Given the description of an element on the screen output the (x, y) to click on. 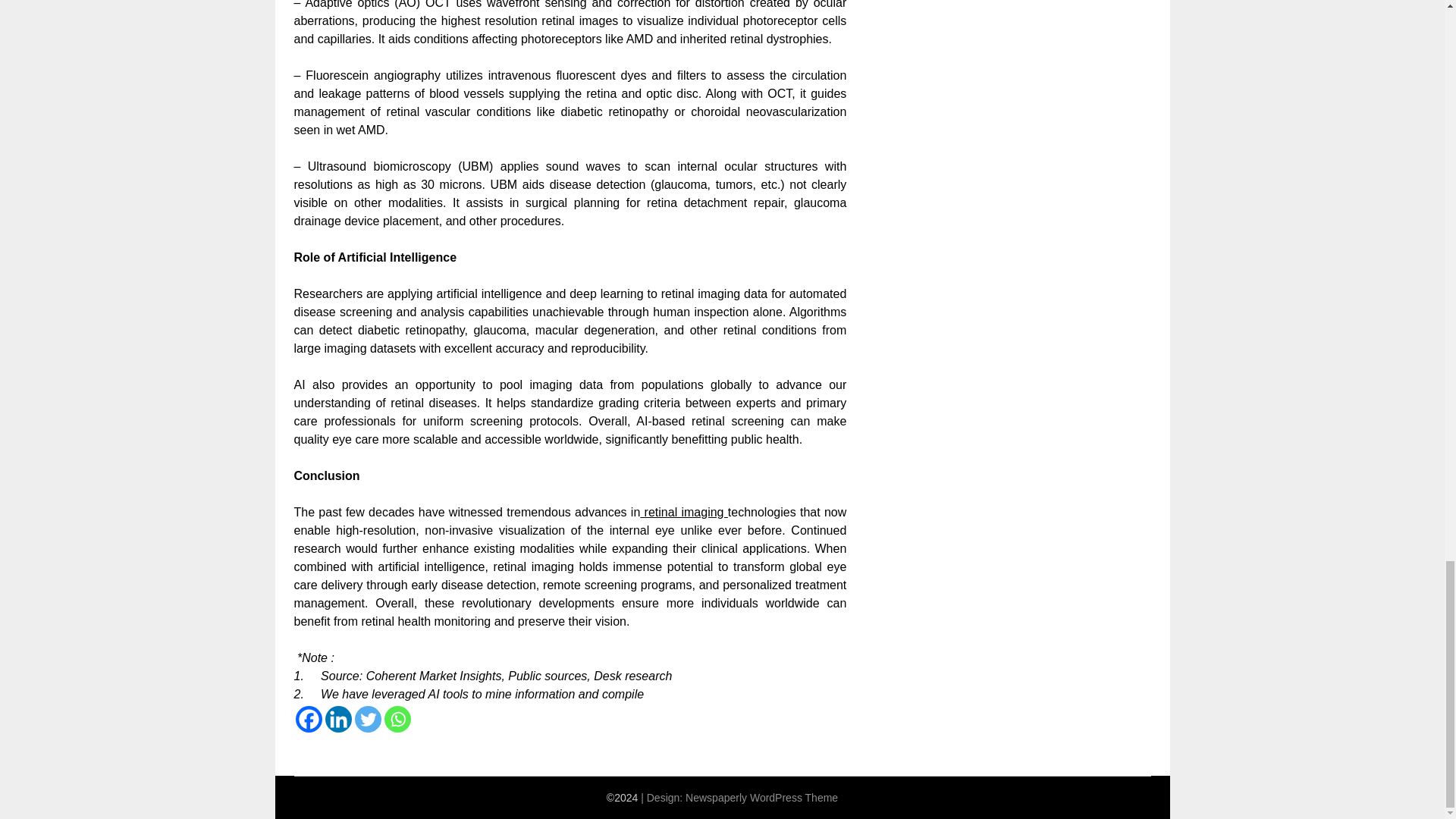
Linkedin (337, 718)
 retinal imaging  (684, 512)
Twitter (368, 718)
Whatsapp (397, 718)
Newspaperly WordPress Theme (761, 797)
Facebook (308, 718)
